Given the description of an element on the screen output the (x, y) to click on. 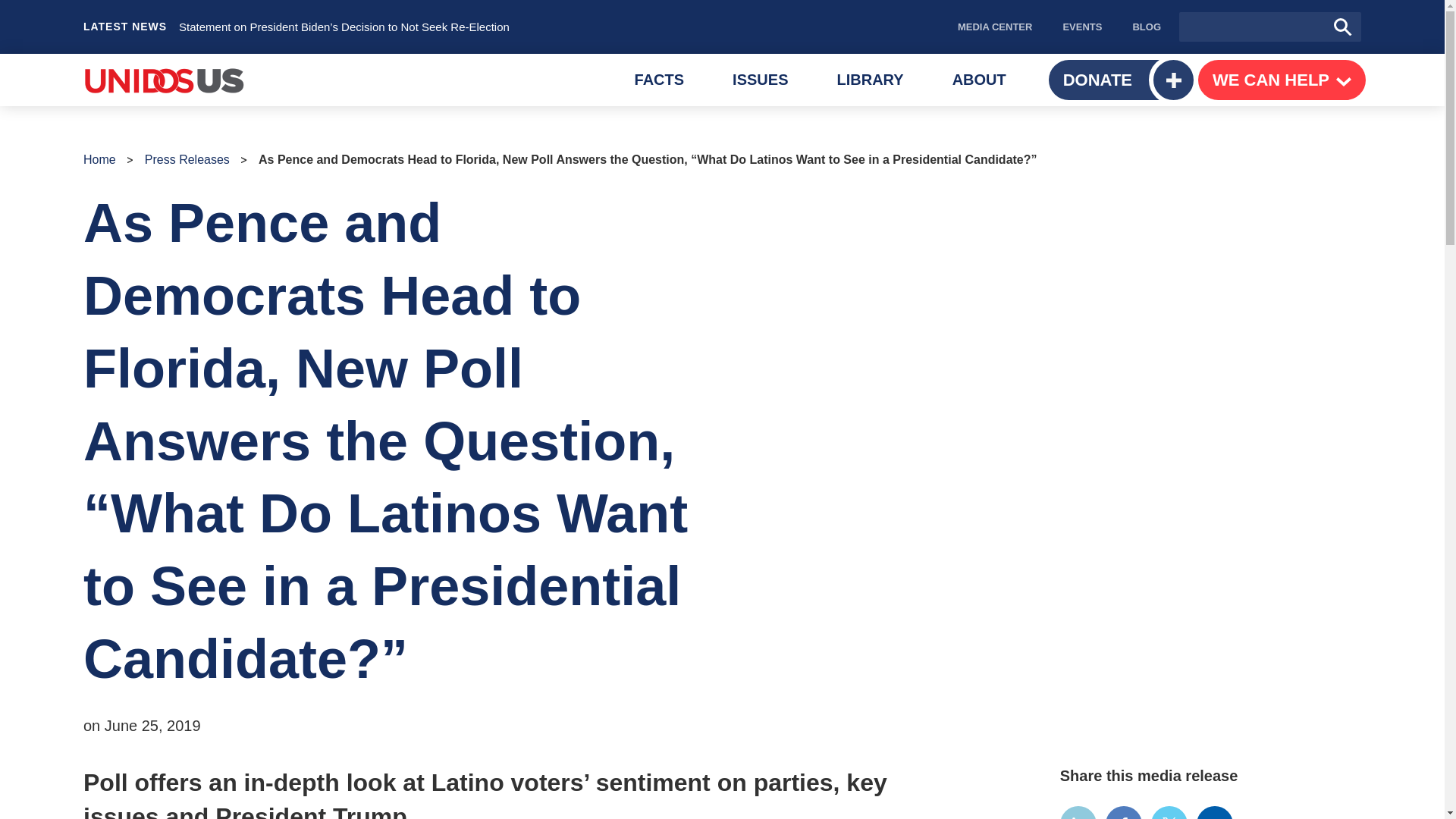
Submit Search (1342, 28)
EVENTS (979, 80)
MEDIA CENTER (1081, 26)
BLOG (659, 80)
